Given the description of an element on the screen output the (x, y) to click on. 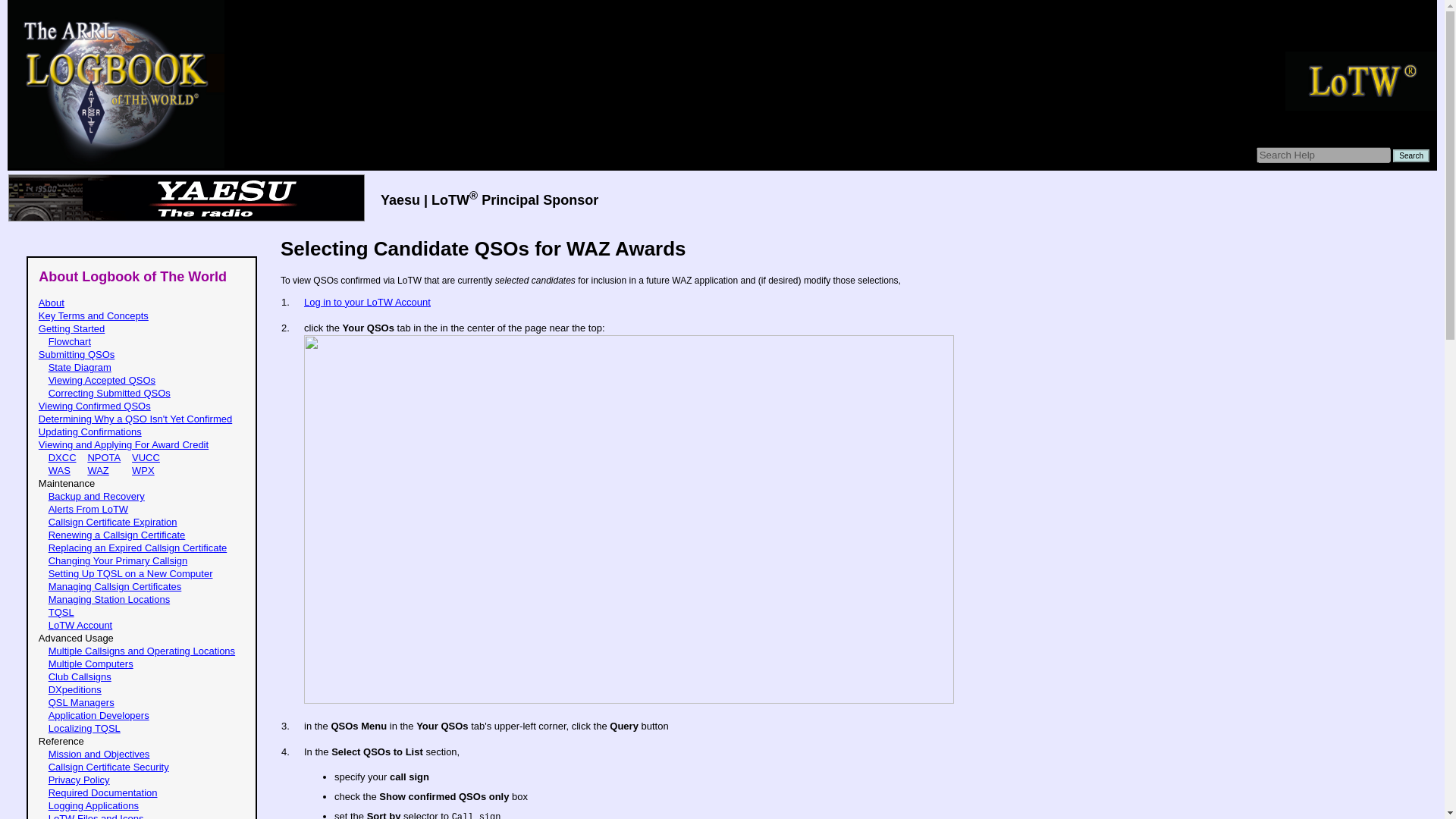
Flowchart (69, 341)
Setting Up TQSL on a New Computer (130, 573)
DXpeditions (74, 689)
WAZ (97, 470)
TQSL (61, 612)
Viewing Confirmed QSOs (95, 405)
QSL Managers (81, 702)
Callsign Certificate Security (108, 767)
Renewing a Callsign Certificate (117, 534)
Getting Started (71, 328)
WAS (58, 470)
DXCC (62, 457)
NPOTA (103, 457)
Application Developers (98, 715)
About (51, 302)
